Given the description of an element on the screen output the (x, y) to click on. 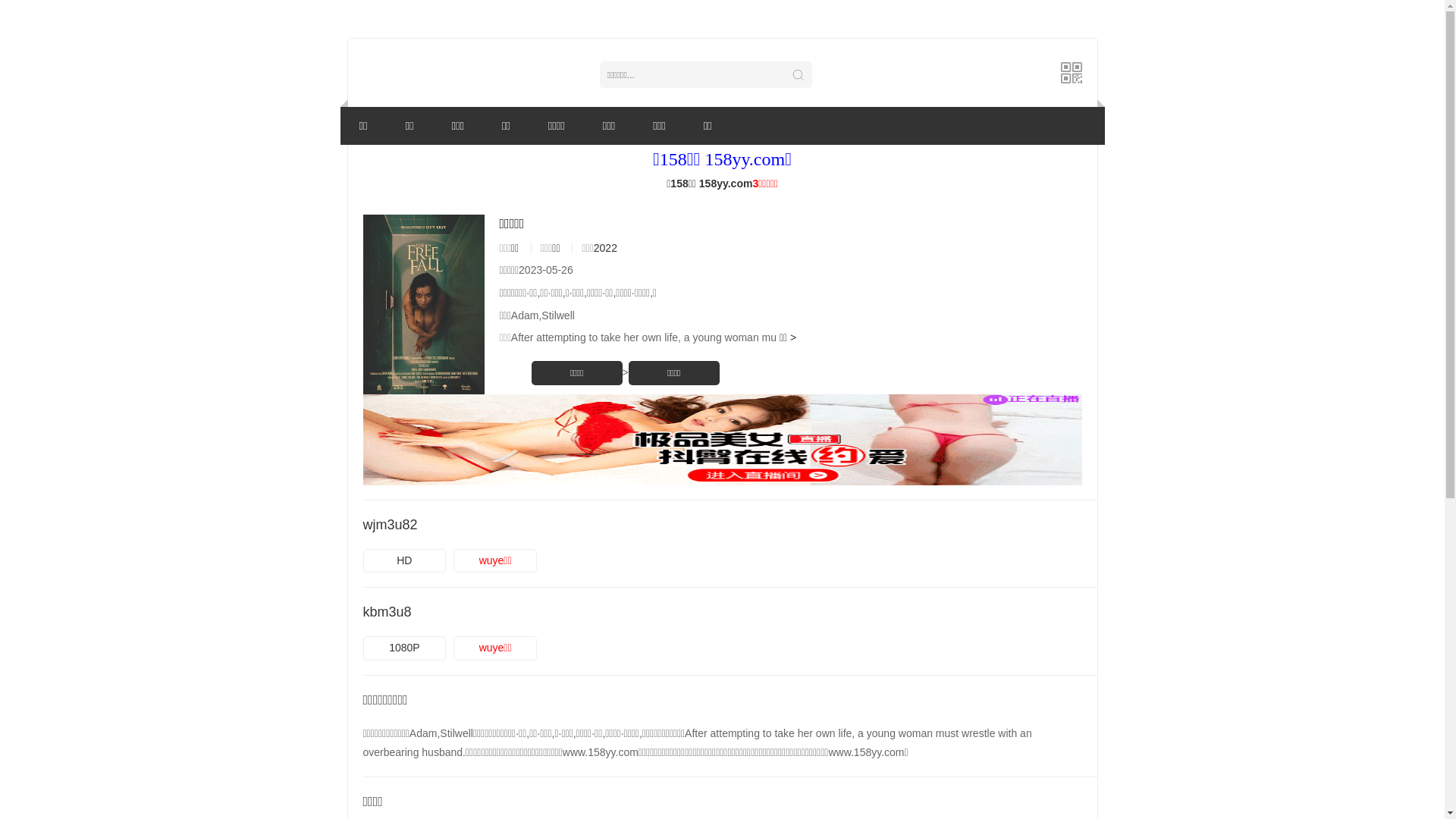
1080P Element type: text (403, 648)
HD Element type: text (403, 561)
2022 Element type: text (605, 247)
